Given the description of an element on the screen output the (x, y) to click on. 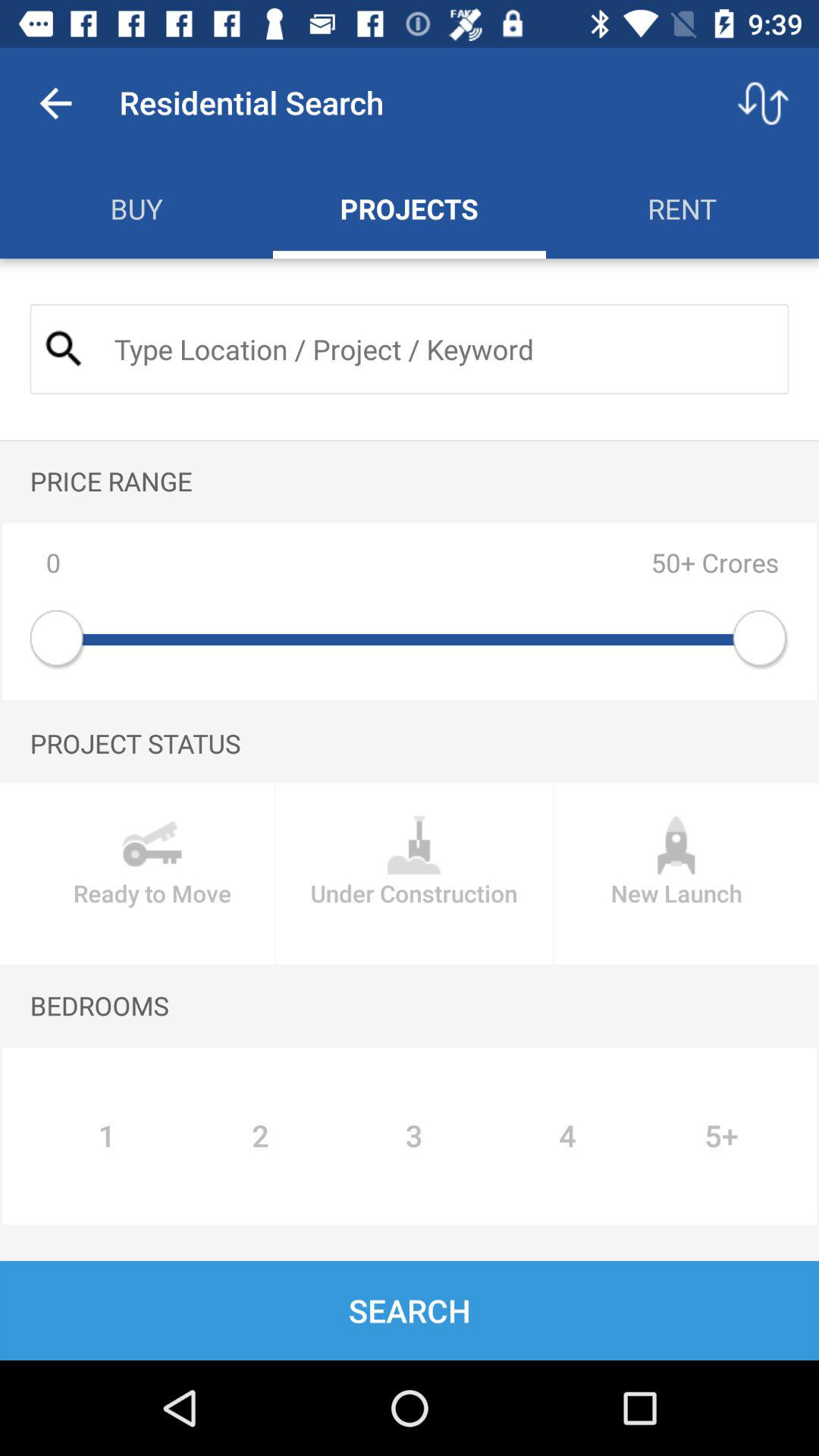
click icon next to residential search (55, 103)
